Given the description of an element on the screen output the (x, y) to click on. 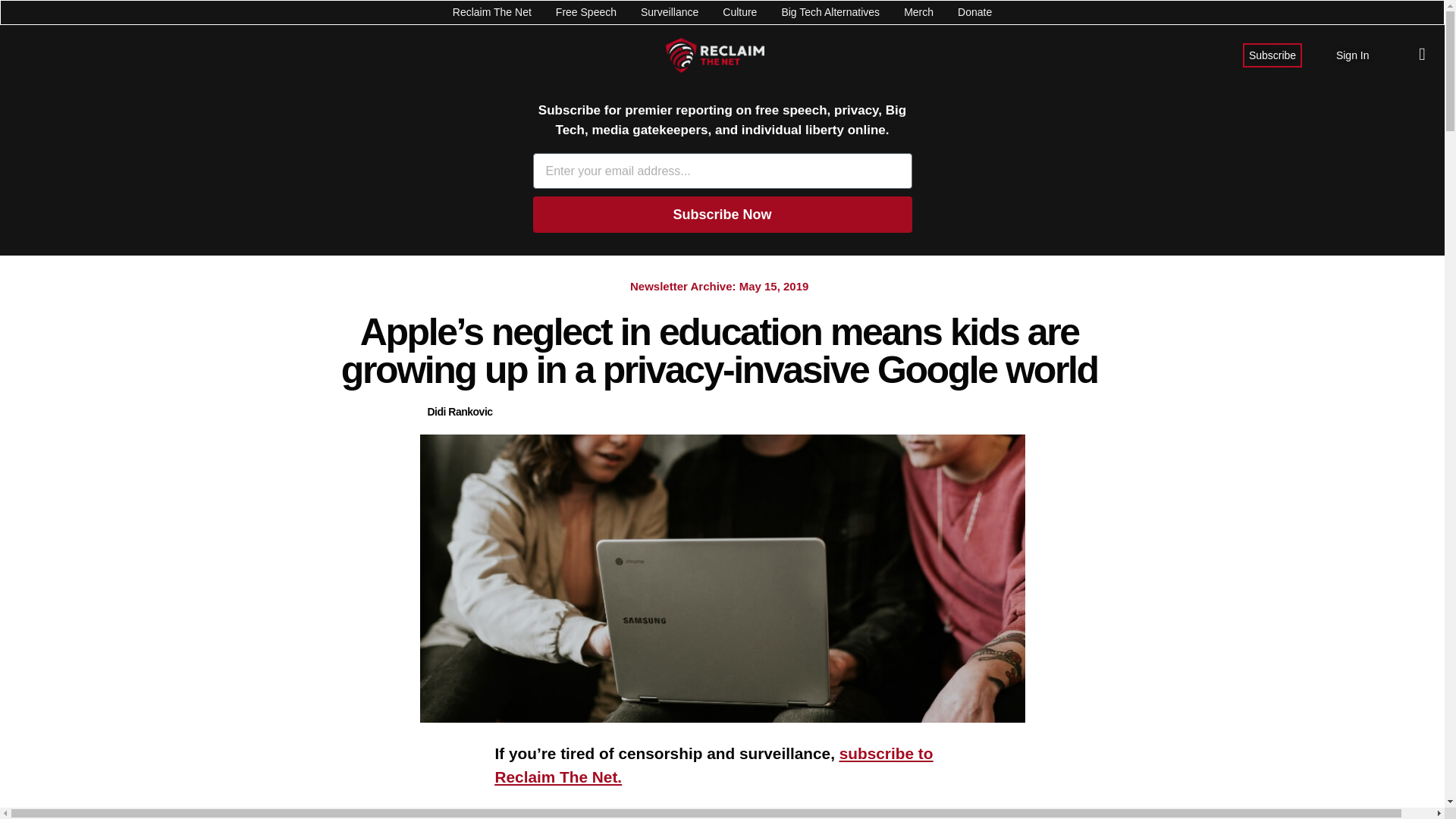
Culture (739, 12)
Big Tech Alternatives (829, 12)
Didi Rankovic (460, 412)
Merch (918, 12)
Reclaim The Net (491, 12)
Subscribe Now (721, 214)
Sign In (1353, 55)
Free Speech (585, 12)
Donate (974, 12)
Surveillance (669, 12)
Subscribe (1272, 55)
subscribe to Reclaim The Net. (714, 764)
